Given the description of an element on the screen output the (x, y) to click on. 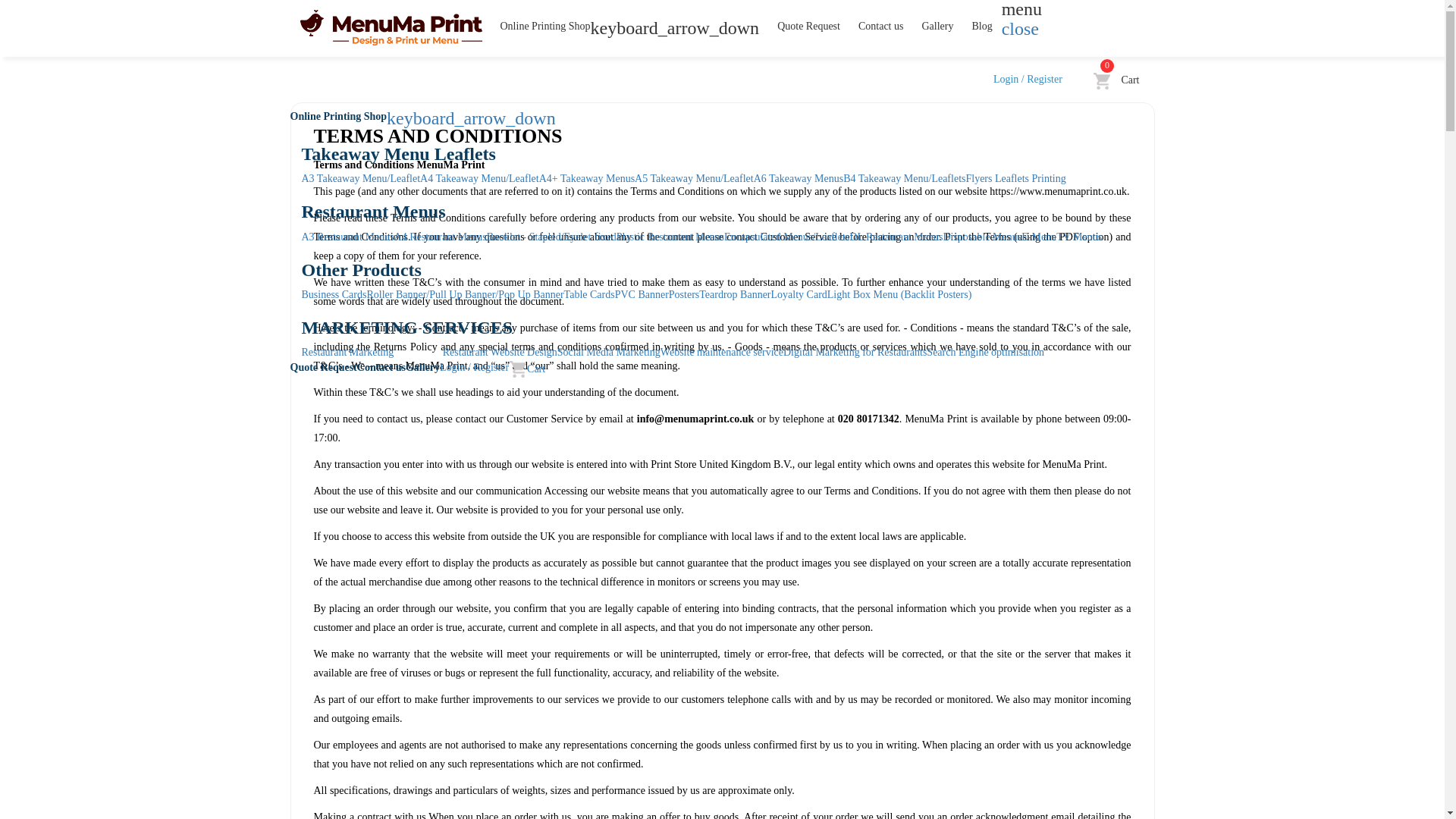
Quote Request (808, 26)
Contact us (880, 26)
Gallery (937, 26)
